Given the description of an element on the screen output the (x, y) to click on. 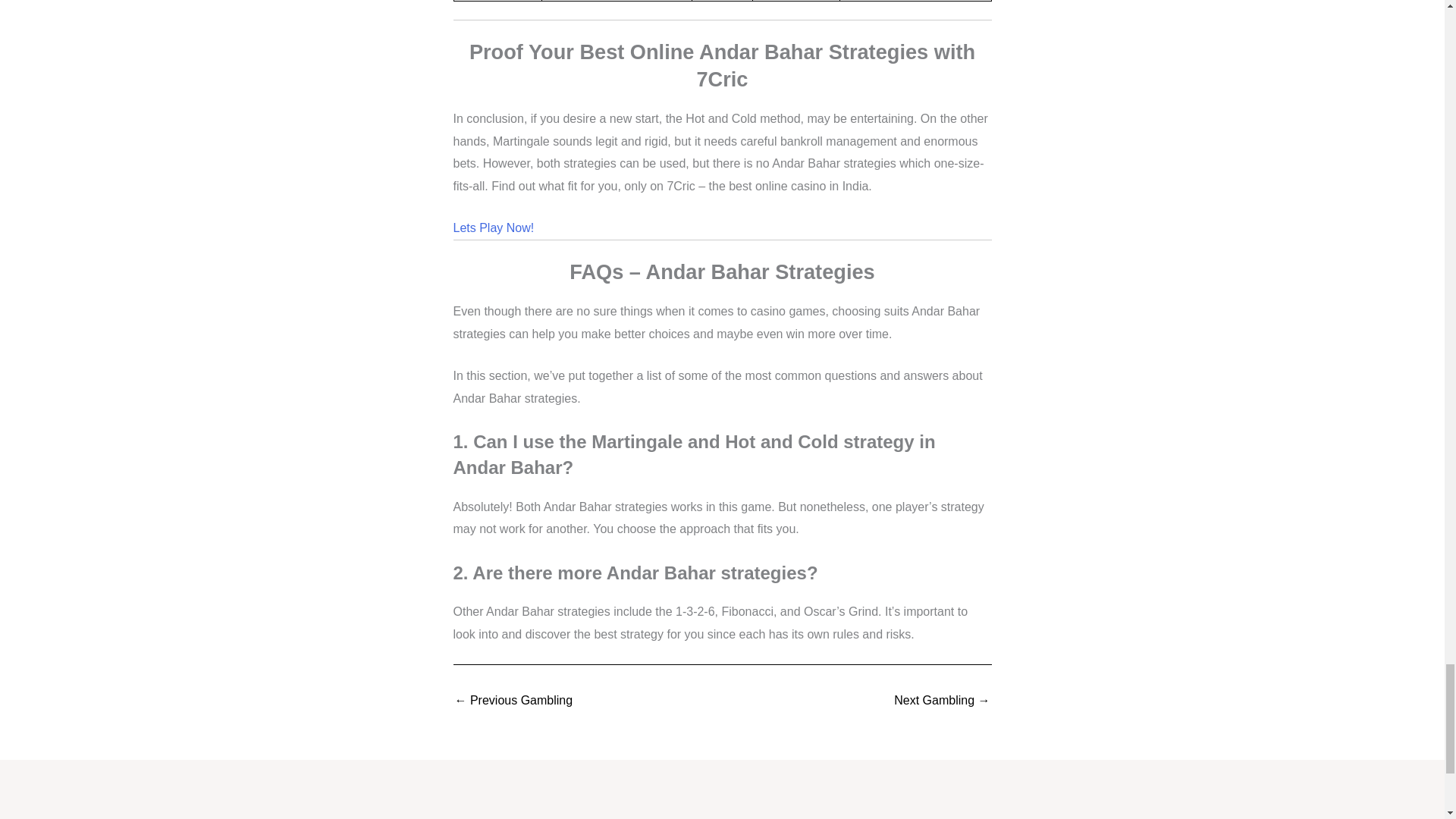
Lets Play Now! (493, 227)
Dive into the Fun World of Pool Rummy Online With 7Cric (513, 700)
